Given the description of an element on the screen output the (x, y) to click on. 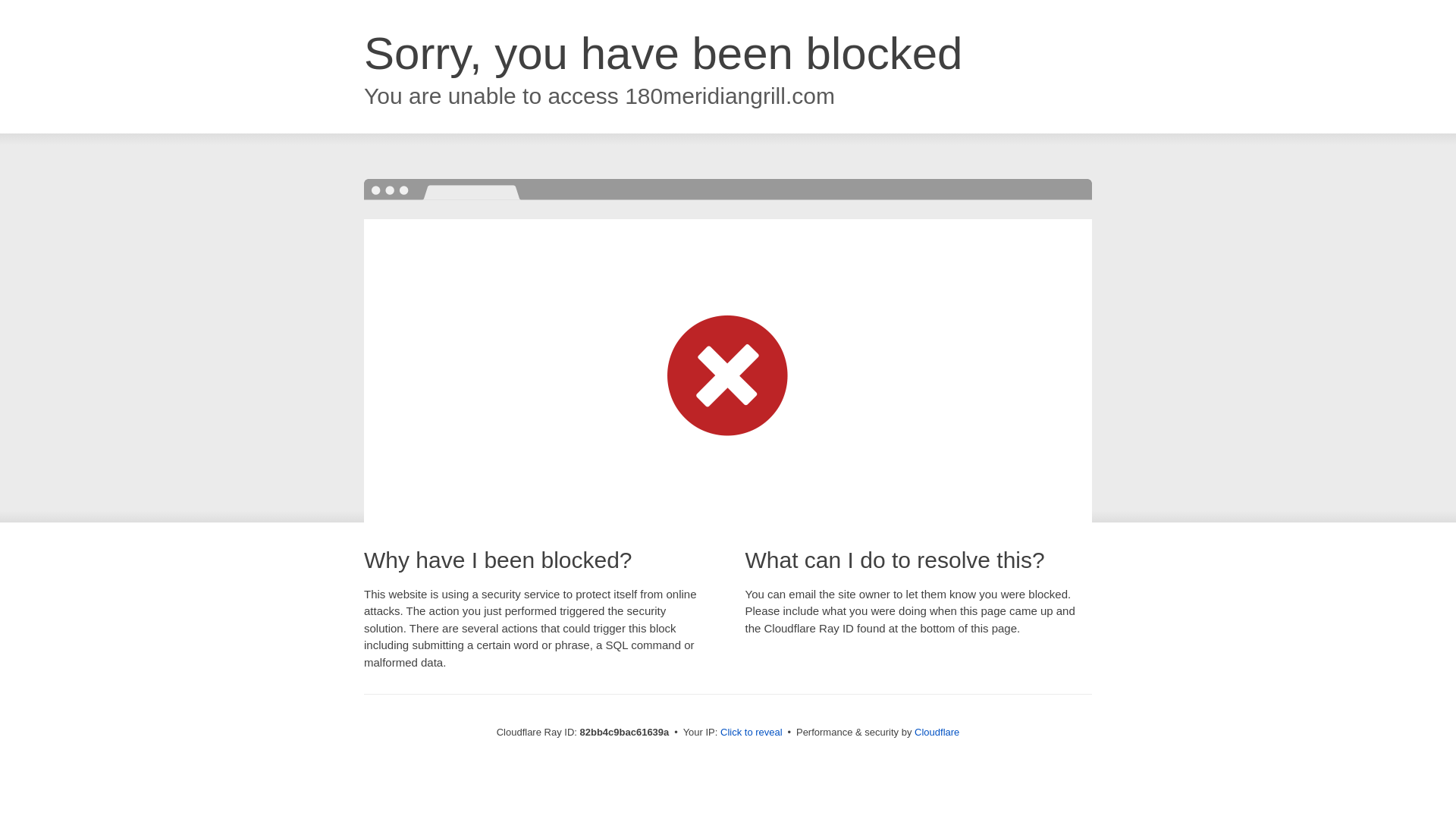
Cloudflare Element type: text (936, 731)
Click to reveal Element type: text (751, 732)
